Given the description of an element on the screen output the (x, y) to click on. 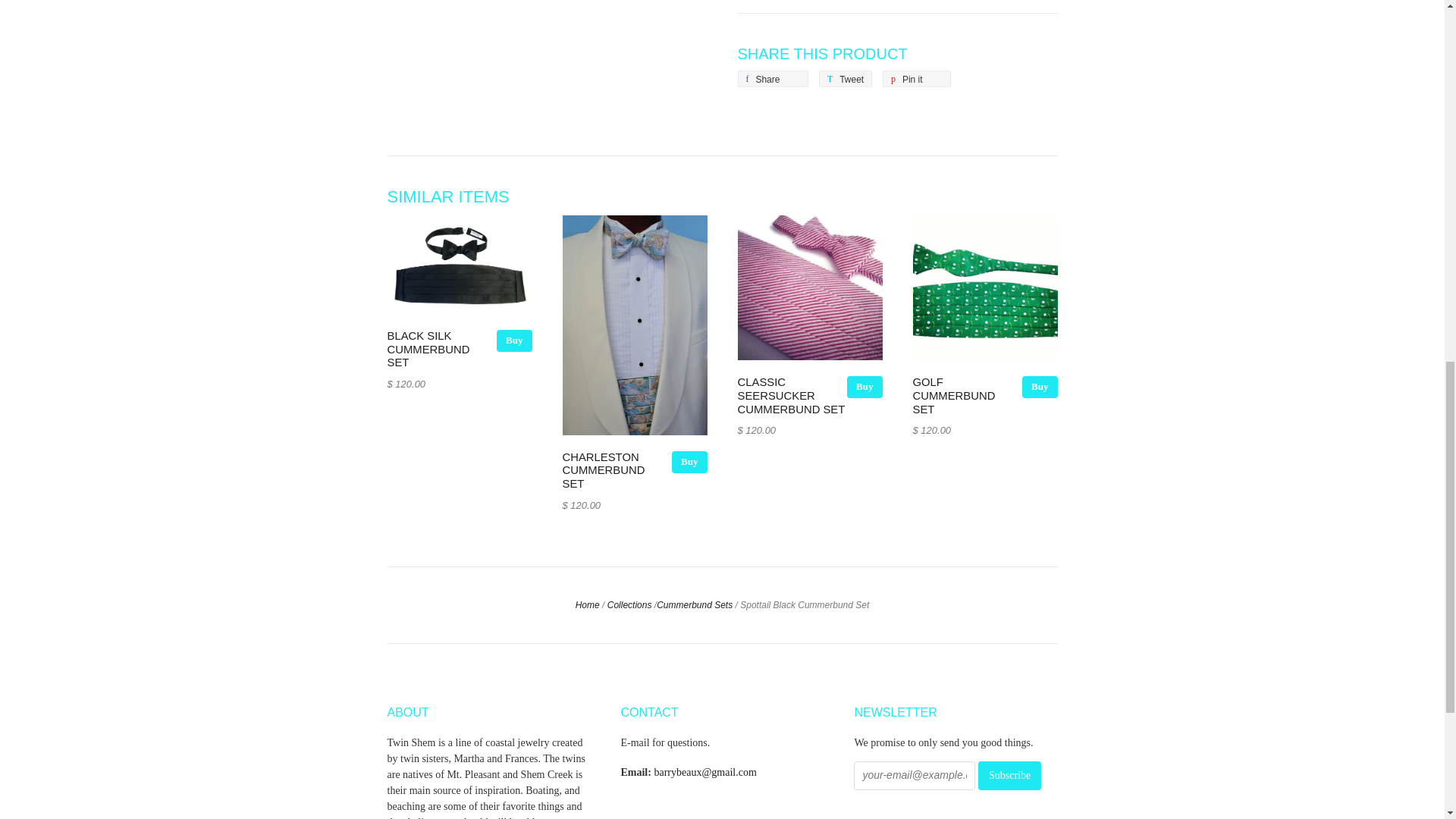
Tweet on Twitter (916, 78)
Pin on Pinterest (845, 78)
Share on Facebook (845, 78)
Subscribe (916, 78)
